Given the description of an element on the screen output the (x, y) to click on. 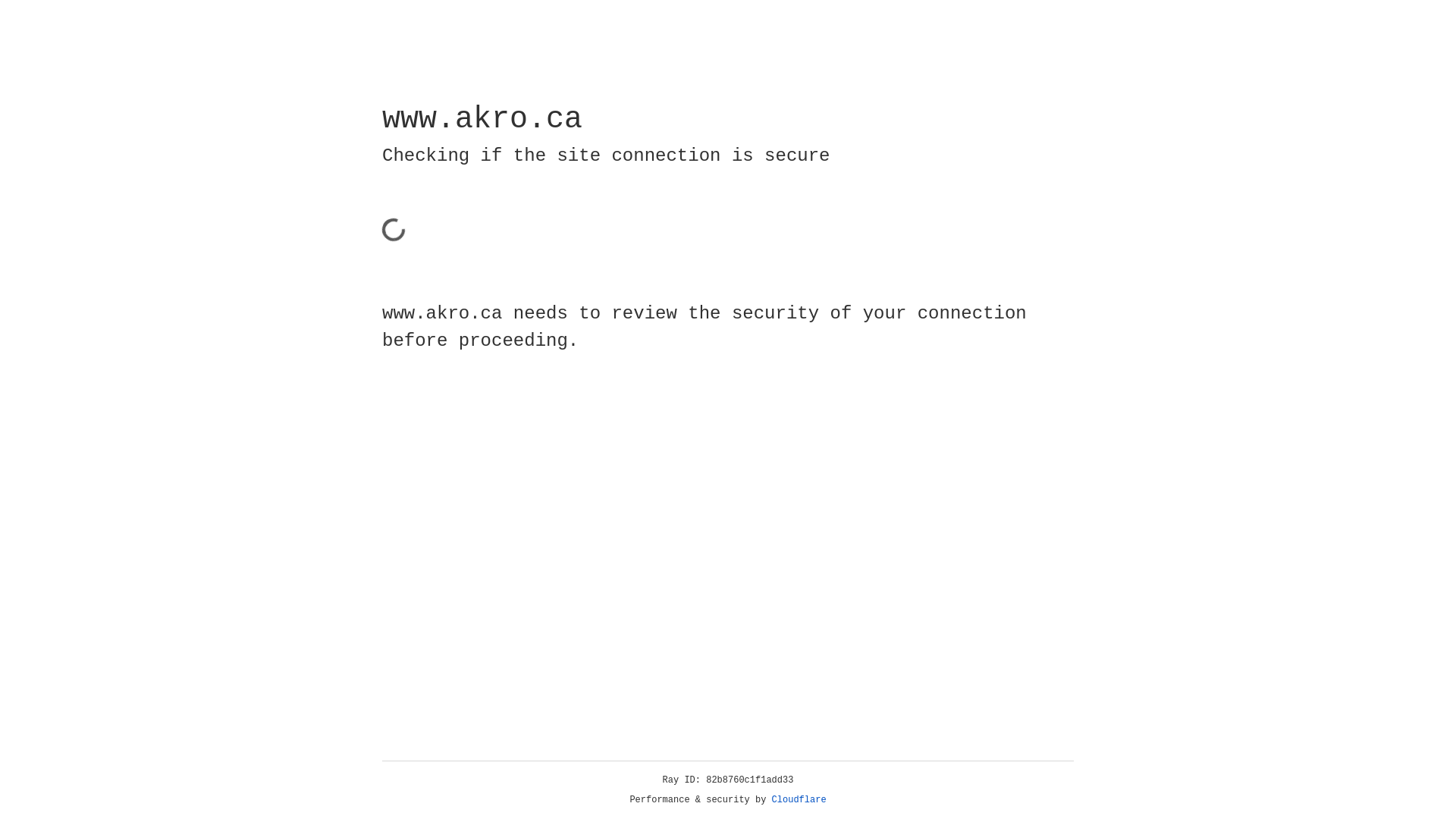
Cloudflare Element type: text (798, 799)
